Given the description of an element on the screen output the (x, y) to click on. 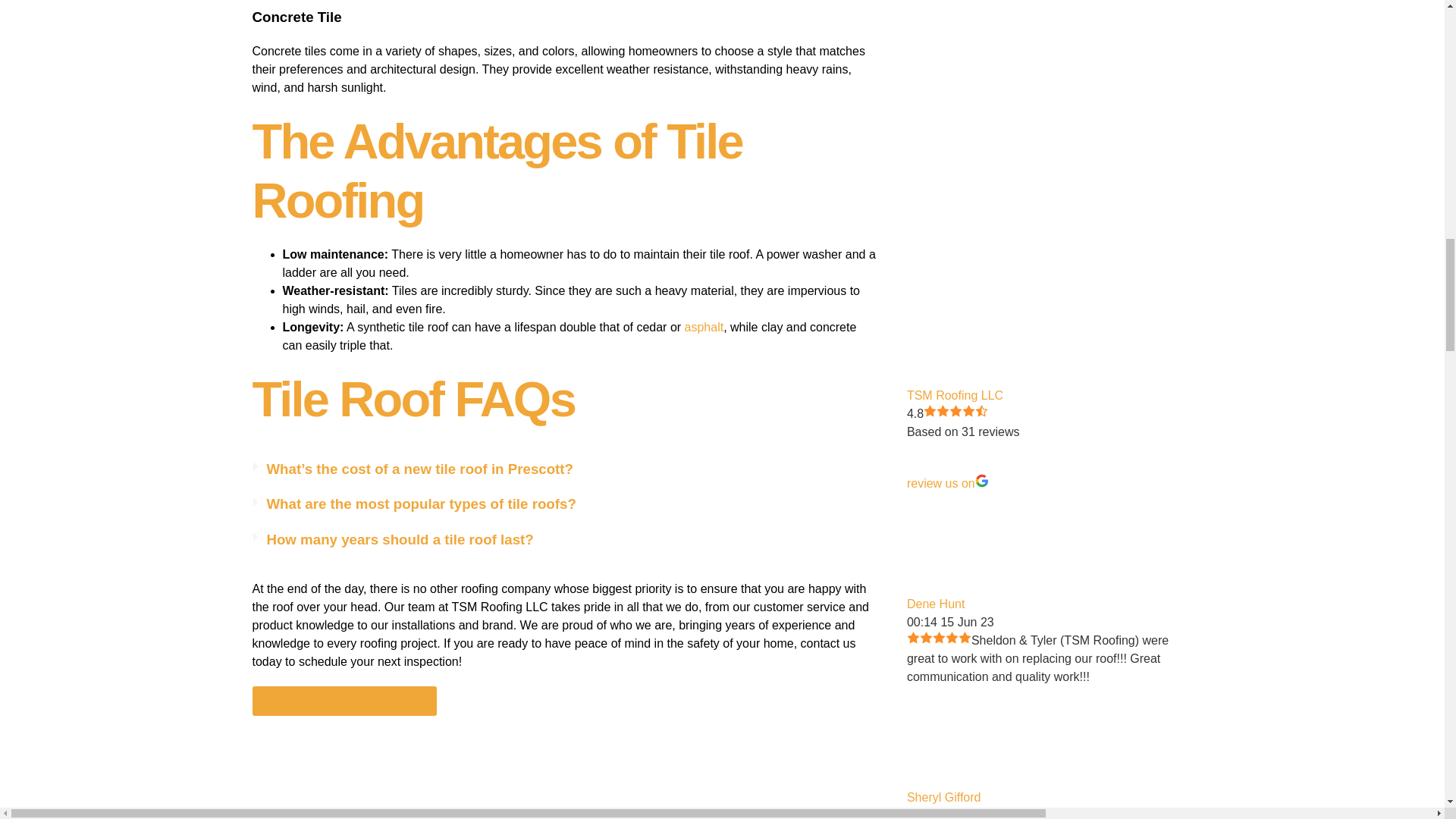
powered by Google (1016, 454)
Dene Hunt (955, 541)
Sheryl Gifford (955, 734)
